Given the description of an element on the screen output the (x, y) to click on. 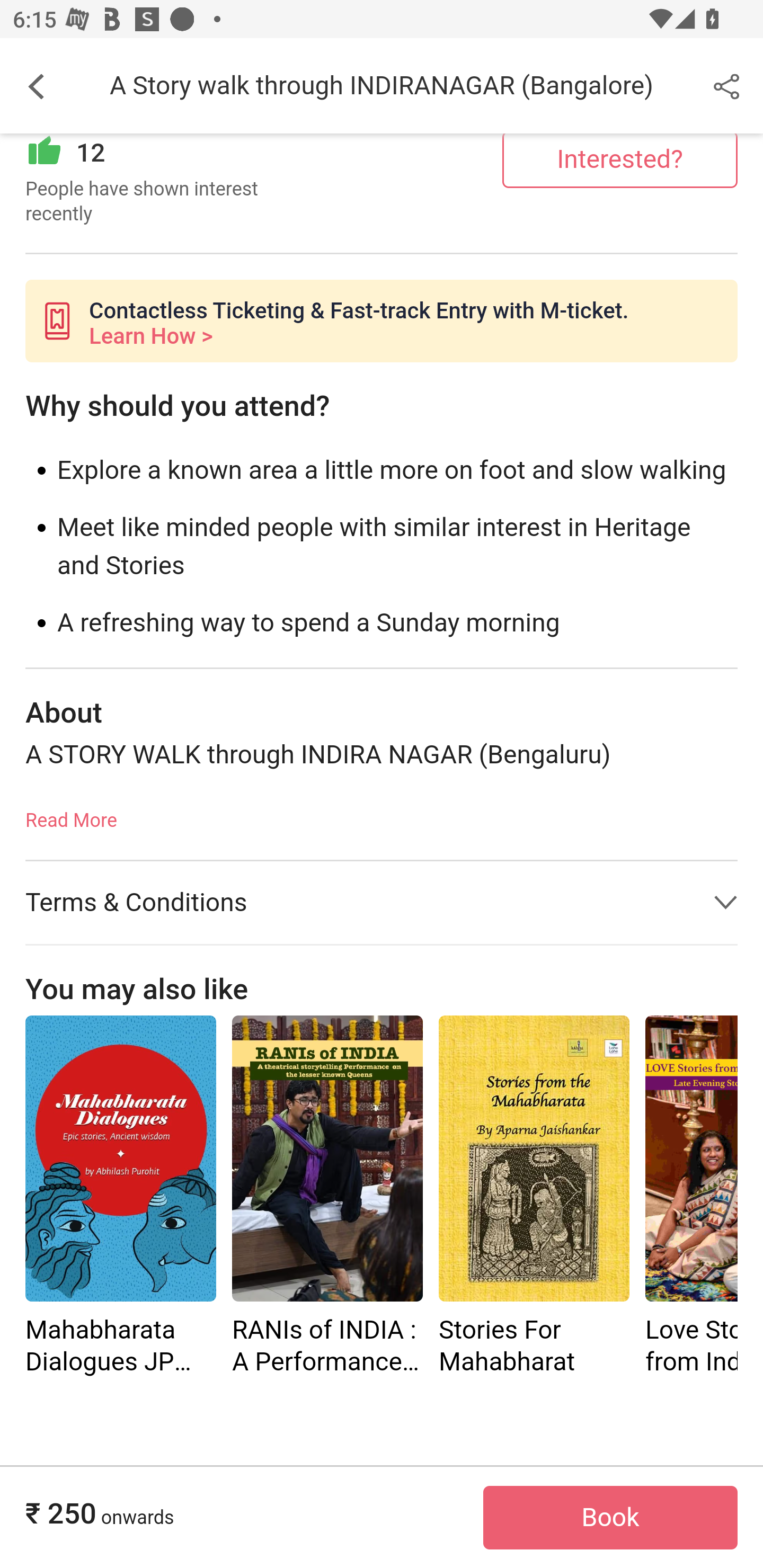
Interested? (619, 159)
Learn How > (150, 337)
Read More (71, 815)
Terms & Conditions (381, 902)
Mahabharata Dialogues JP Nagar (120, 1197)
Mahabharata Dialogues JP Nagar (120, 1159)
RANIs of INDIA : A Performance Storytelling  (326, 1159)
Stories For Mahabharat (533, 1197)
Stories For Mahabharat (533, 1159)
Book (609, 1518)
